Given the description of an element on the screen output the (x, y) to click on. 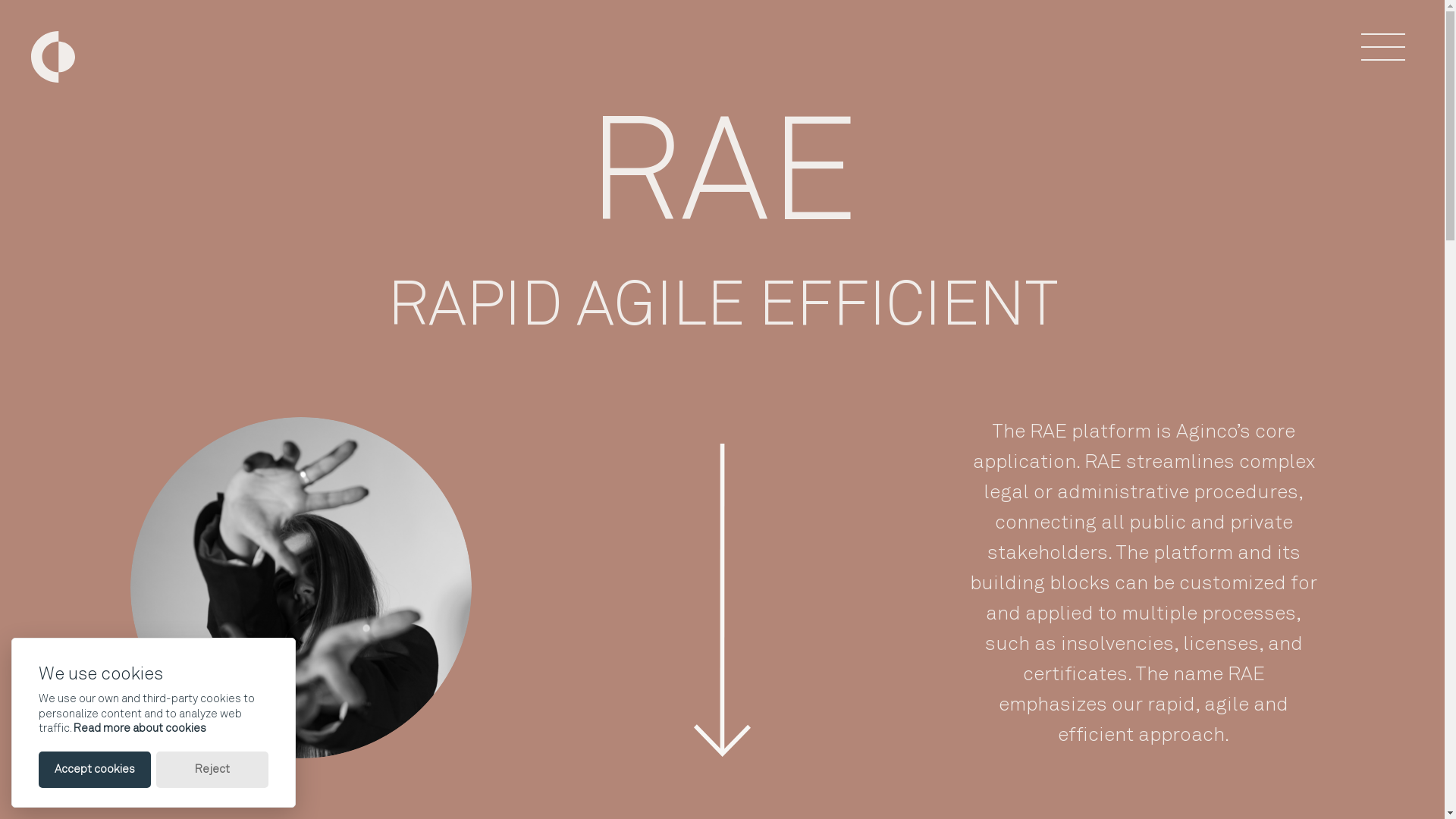
Reject Element type: text (212, 768)
Read more about cookies Element type: text (139, 728)
Accept cookies Element type: text (94, 768)
